Given the description of an element on the screen output the (x, y) to click on. 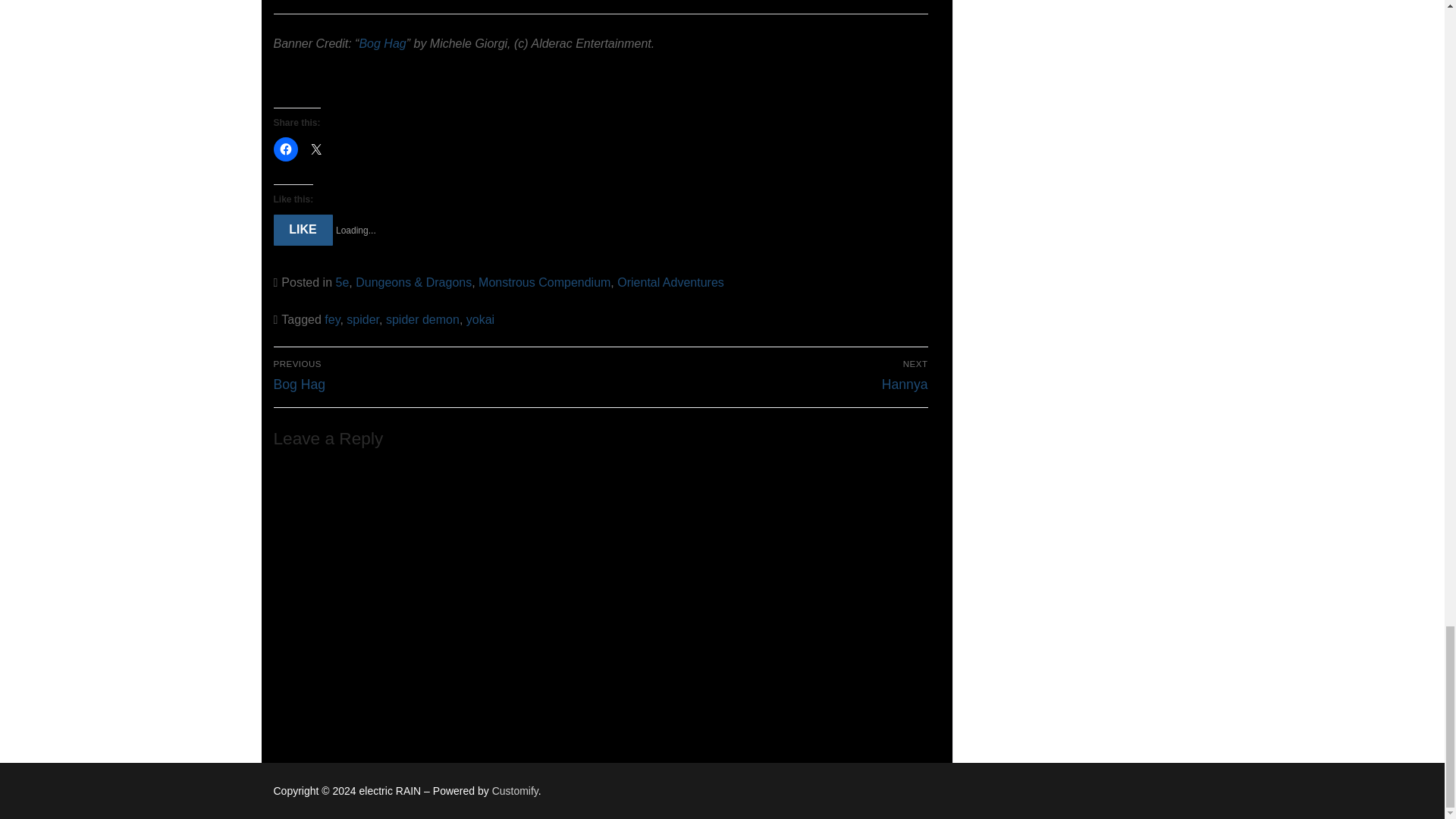
5e (341, 282)
Page 119 (600, 27)
Bog Hag (382, 42)
